Given the description of an element on the screen output the (x, y) to click on. 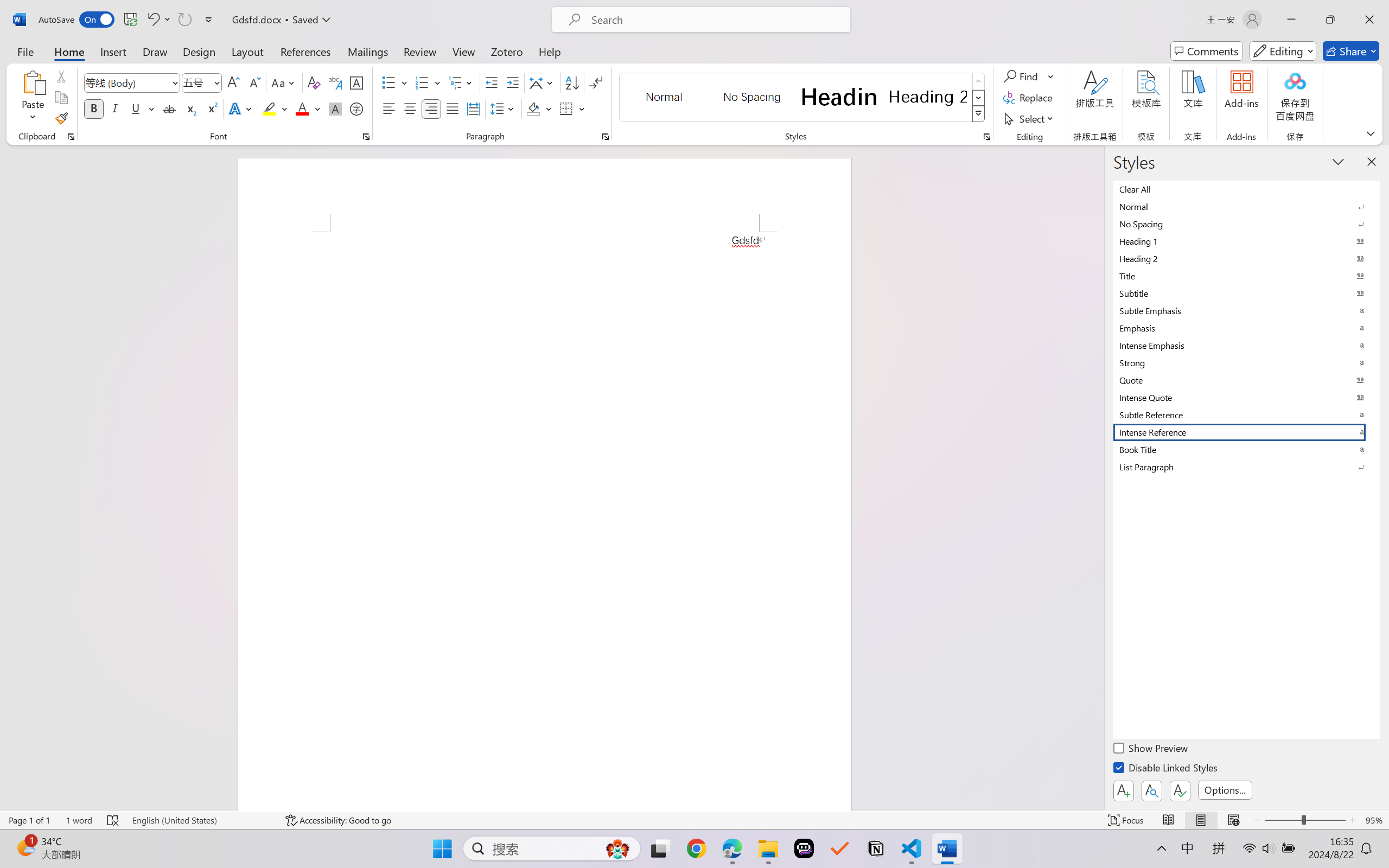
Strong (1246, 362)
Subtitle (1246, 293)
Zoom 95% (1374, 819)
Subtle Emphasis (1246, 310)
Page 1 content (544, 521)
Intense Emphasis (1246, 345)
Increase Indent (512, 82)
Subscript (190, 108)
